Given the description of an element on the screen output the (x, y) to click on. 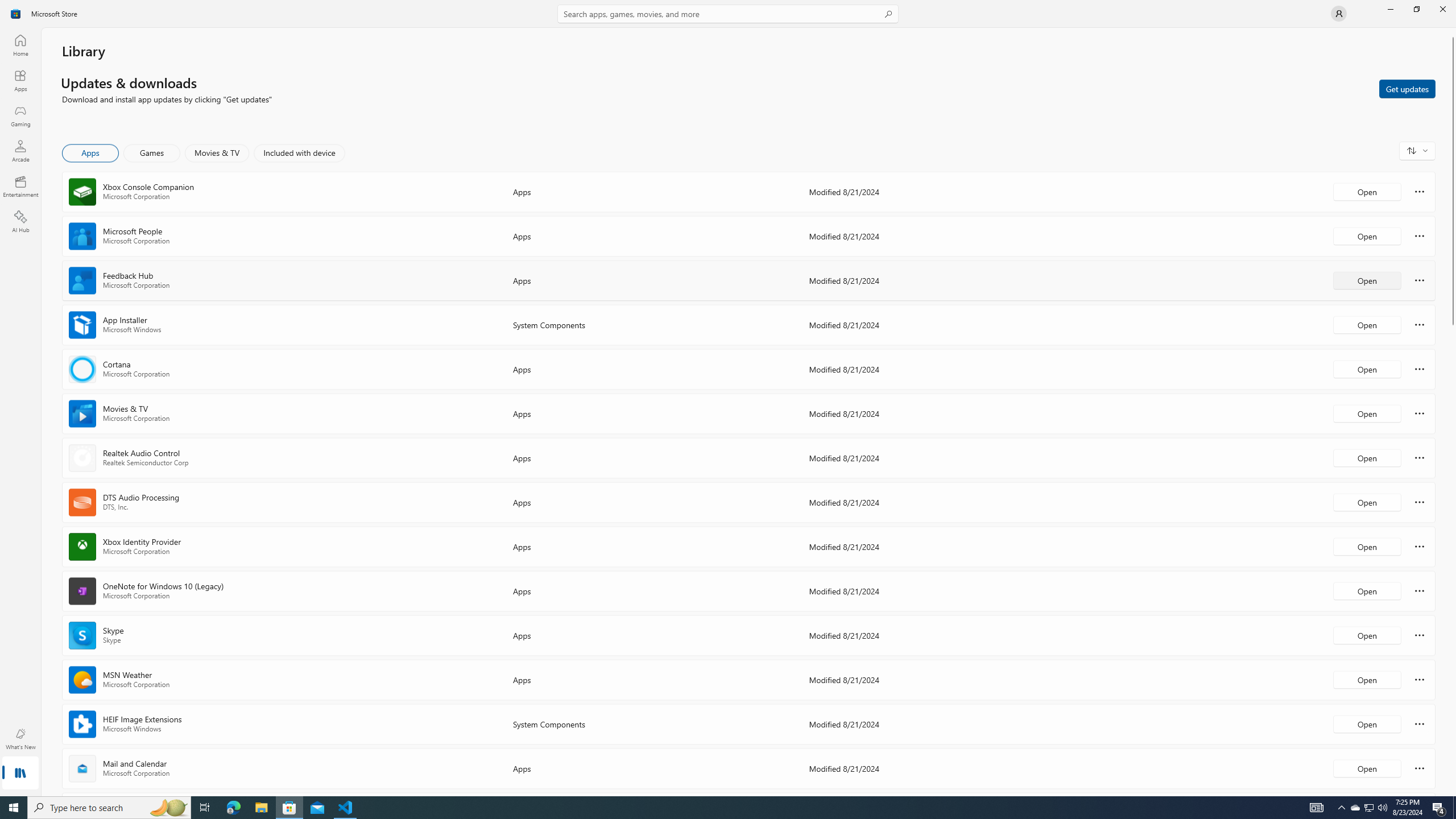
More options (1419, 768)
Library (20, 773)
Gaming (20, 115)
Entertainment (20, 185)
Sort and filter (1417, 149)
Included with device (299, 153)
Vertical Large Increase (1452, 557)
Movies & TV (216, 153)
User profile (1338, 13)
Get updates (1406, 88)
What's New (20, 738)
Arcade (20, 150)
